Given the description of an element on the screen output the (x, y) to click on. 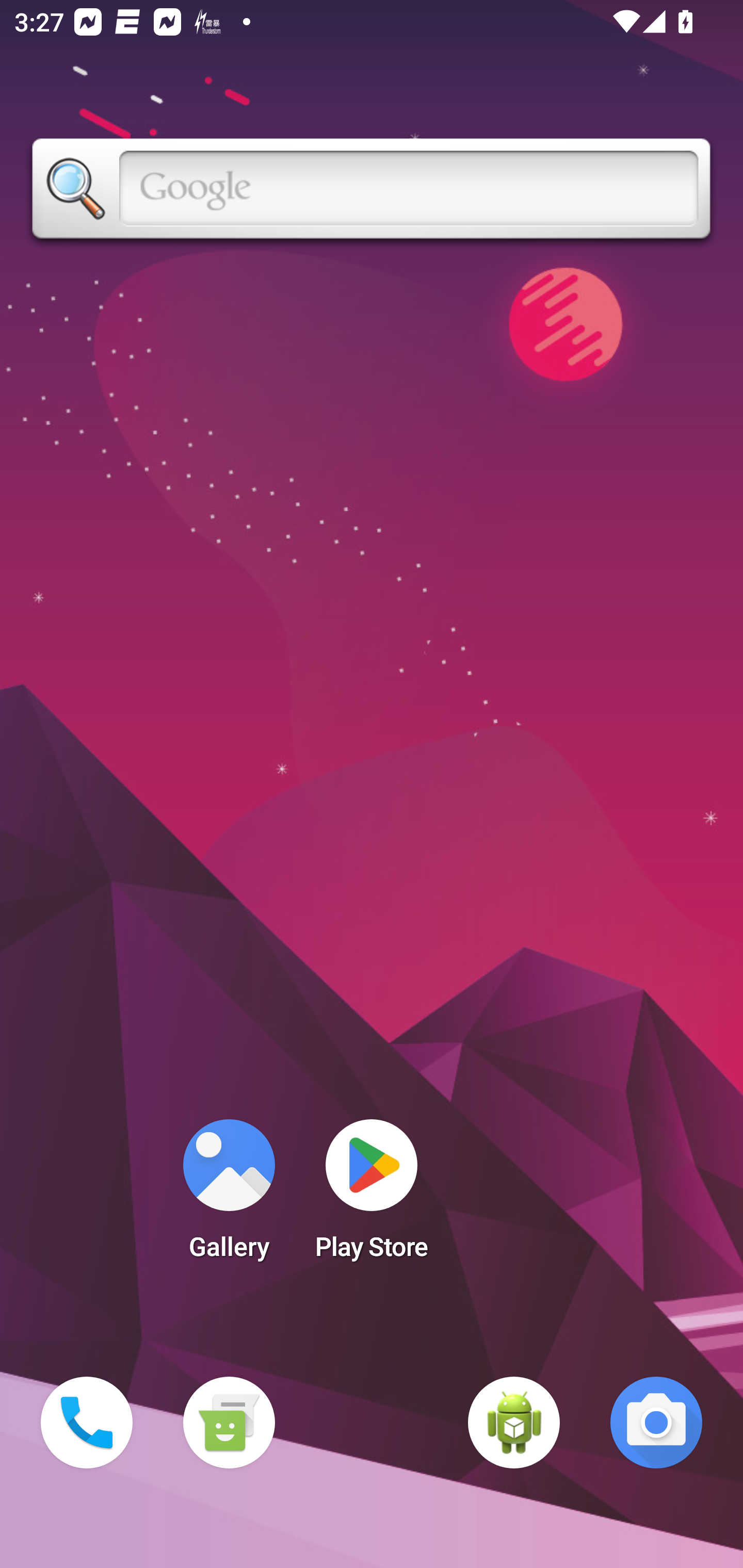
Gallery (228, 1195)
Play Store (371, 1195)
Phone (86, 1422)
Messaging (228, 1422)
WebView Browser Tester (513, 1422)
Camera (656, 1422)
